Given the description of an element on the screen output the (x, y) to click on. 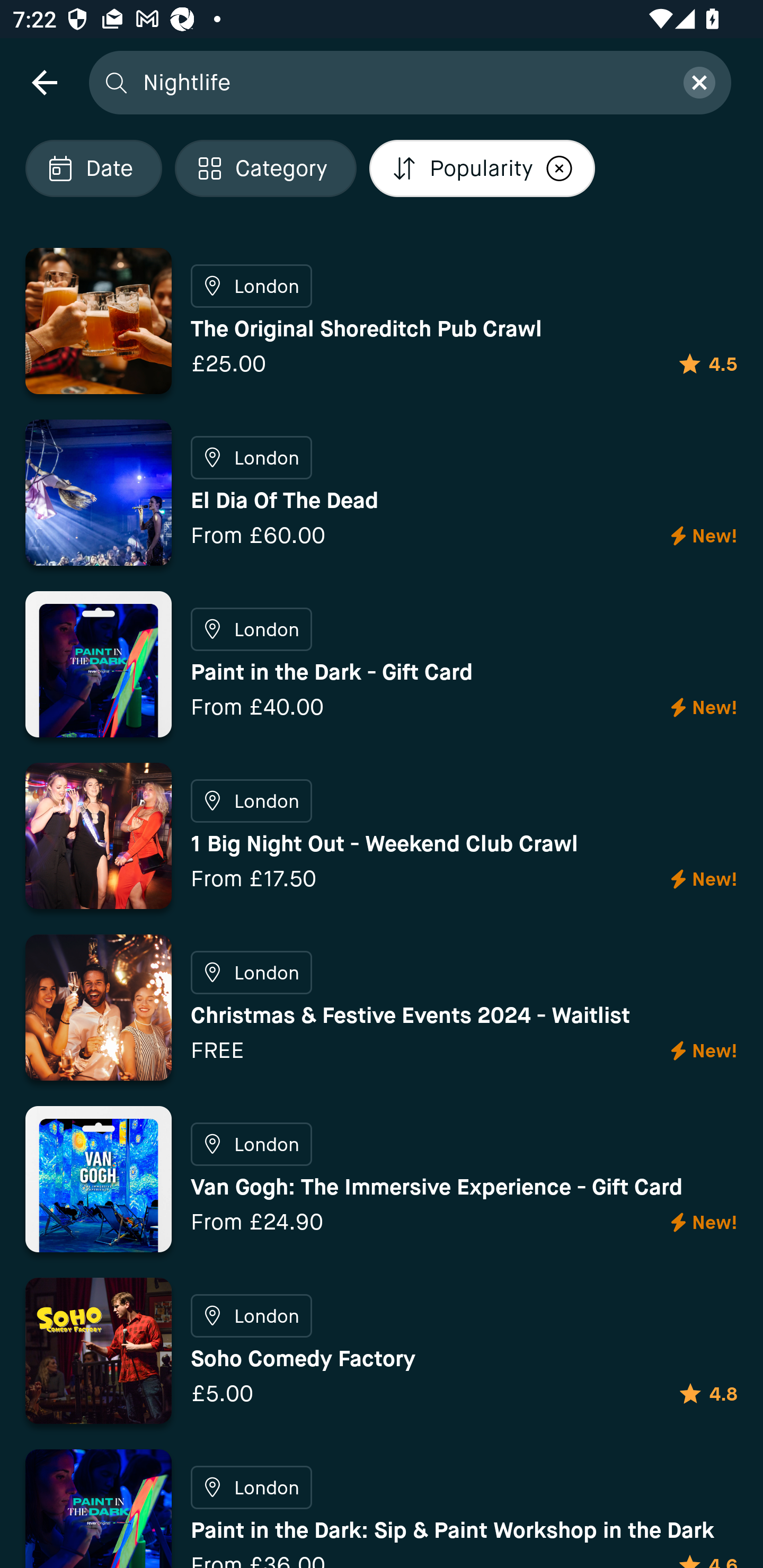
navigation icon (44, 81)
Nightlife (402, 81)
Localized description Date (93, 168)
Localized description Category (265, 168)
Localized description (559, 168)
